Given the description of an element on the screen output the (x, y) to click on. 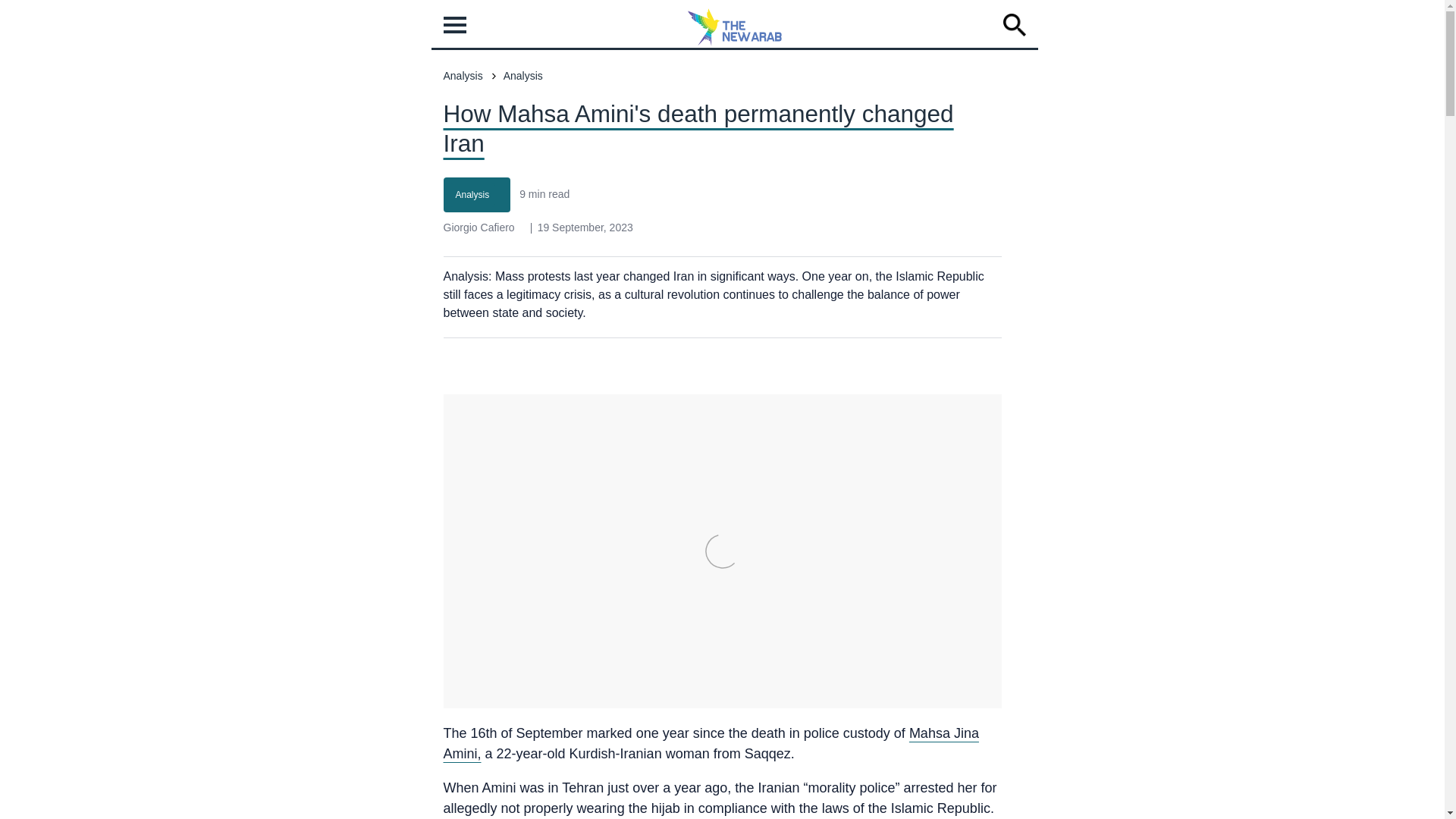
Analysis (471, 194)
Analysis (471, 194)
Mahsa Jina Amini, (710, 743)
Giorgio Cafiero (477, 227)
AddThis Website Tools (563, 390)
Giorgio Cafiero (477, 227)
Analysis (523, 75)
Analysis (461, 75)
Home (735, 42)
